Given the description of an element on the screen output the (x, y) to click on. 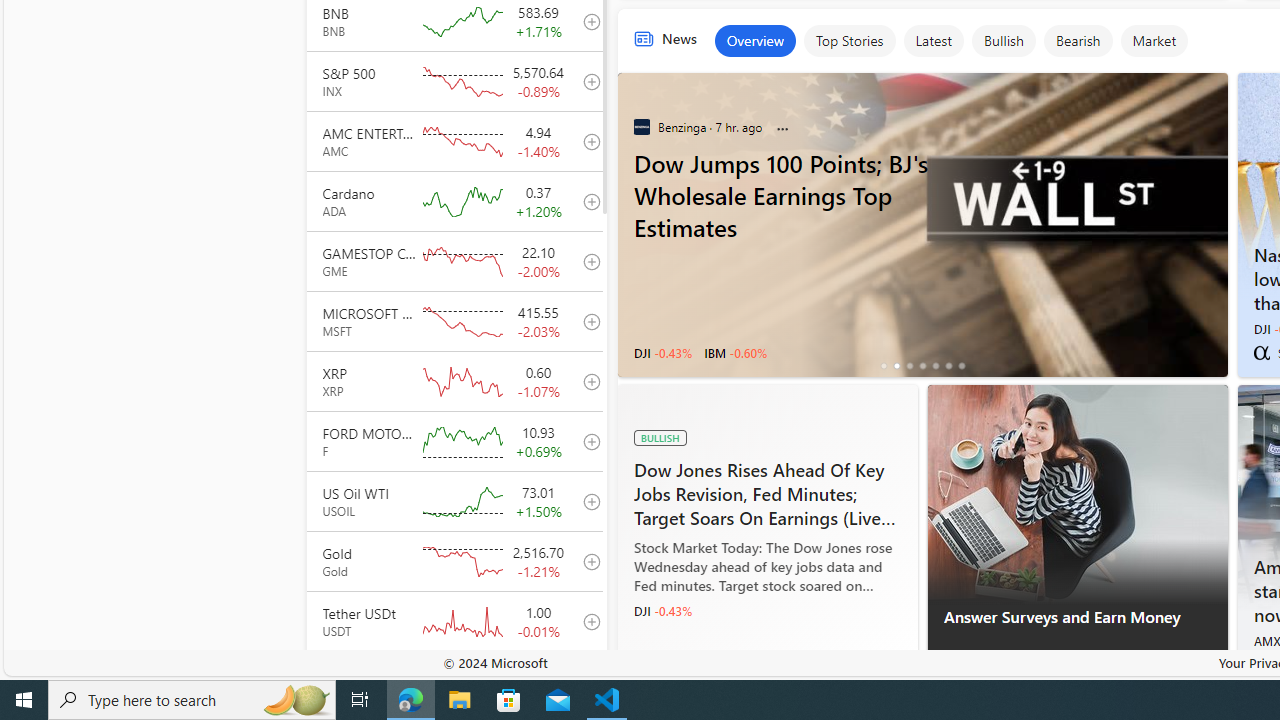
AdChoices (1211, 669)
MarketWatch (1261, 664)
Bullish (1003, 40)
AdChoices (1211, 668)
Investor's Business Daily (641, 664)
IBM -0.60% (734, 352)
Benzinga (641, 126)
Answer Surveys and Earn Money (1076, 494)
